Given the description of an element on the screen output the (x, y) to click on. 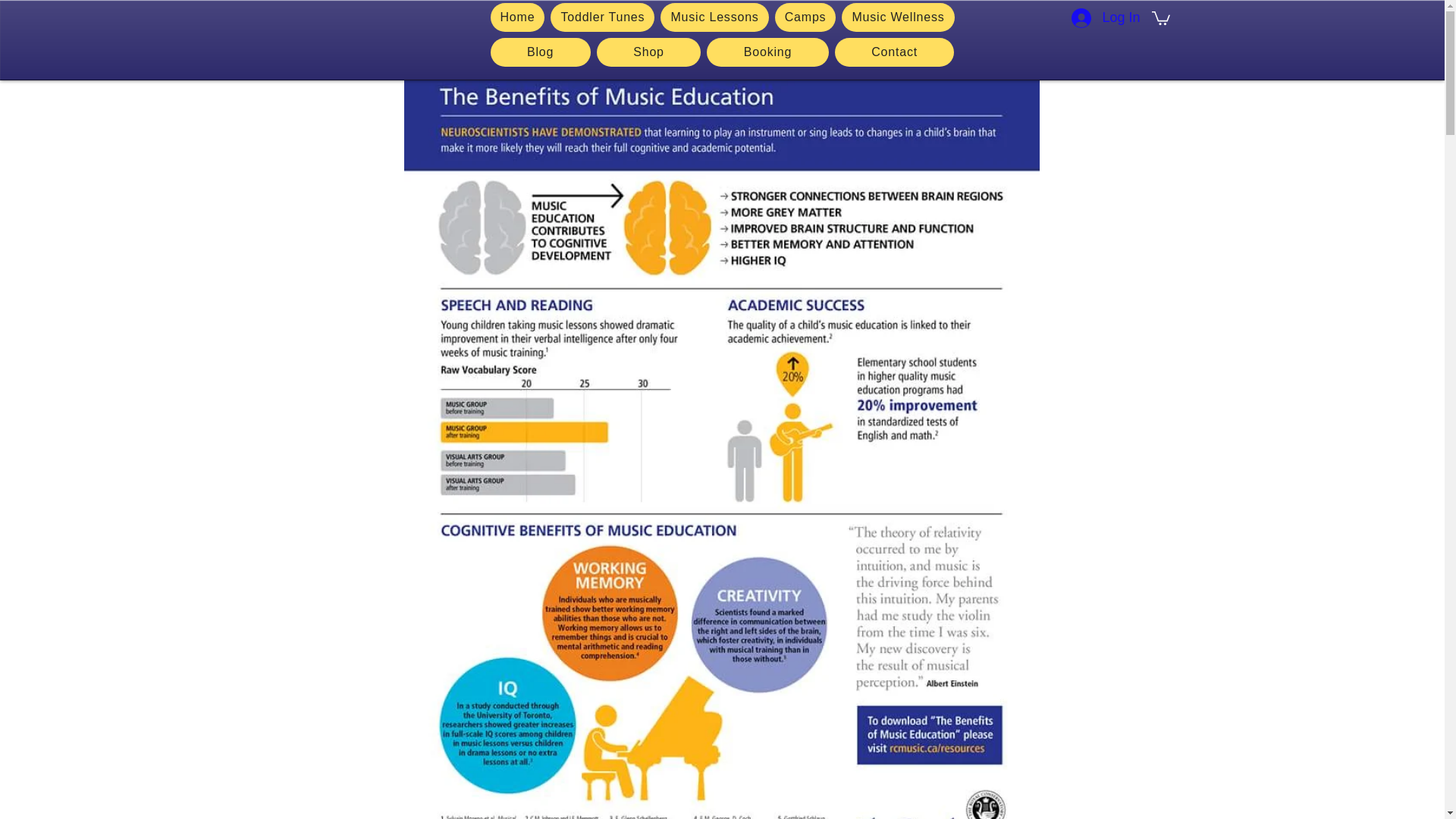
Log In (1105, 18)
Music Lessons (714, 17)
Music Wellness (897, 17)
Home (516, 17)
Shop (648, 51)
Toddler Tunes (601, 17)
Camps (804, 17)
Blog (539, 51)
Contact (894, 51)
Booking (767, 51)
